Given the description of an element on the screen output the (x, y) to click on. 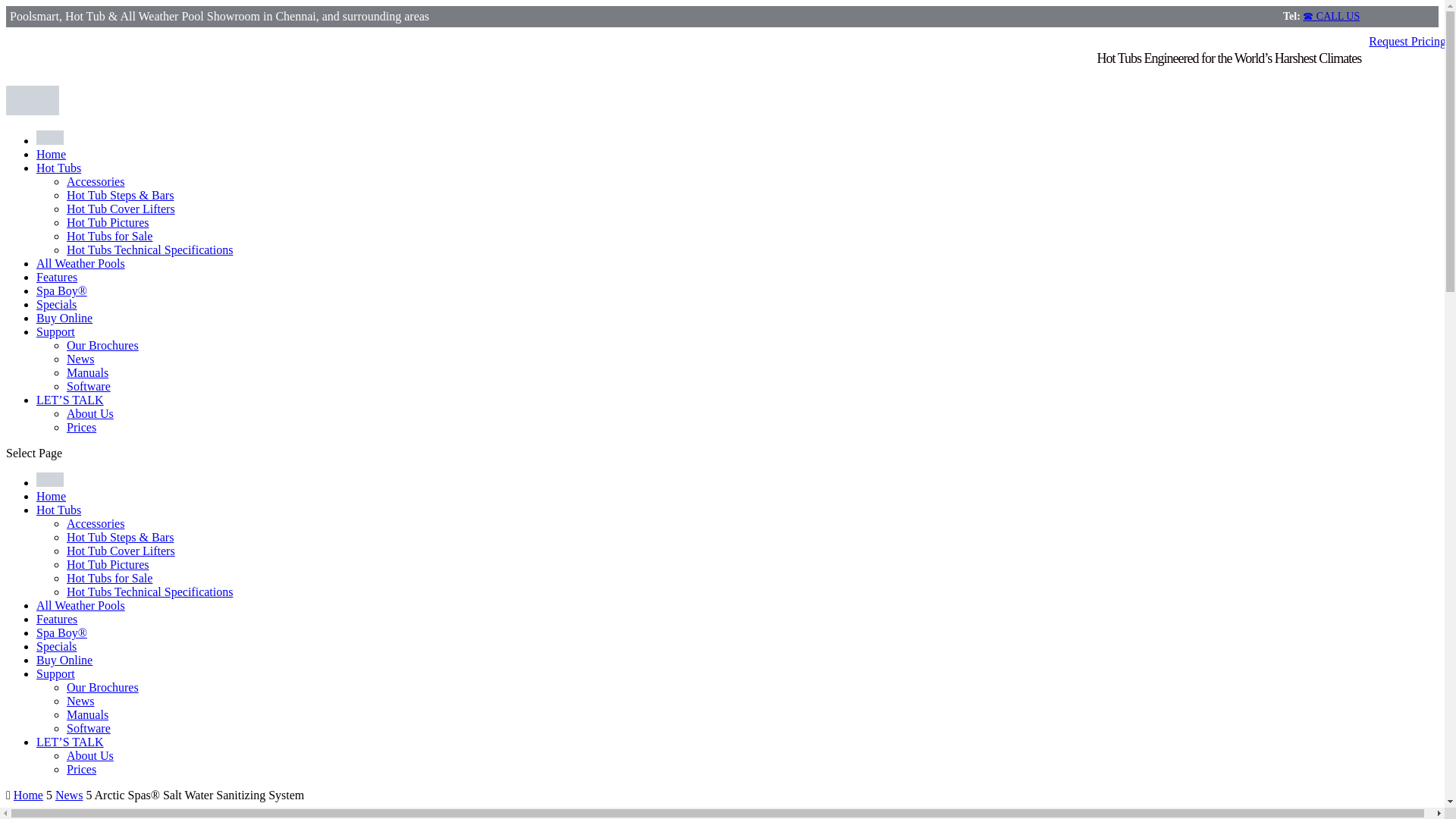
Accessories (94, 181)
Hot Tub Cover Lifters (120, 208)
Hot Tubs for Sale (109, 236)
Hot Tubs (58, 509)
Specials (56, 645)
Specials (56, 304)
Home (50, 495)
Home (50, 154)
News (80, 358)
Hot Tubs (58, 167)
Choose Your Location (50, 140)
Features (56, 277)
Return to the home page (50, 154)
Hot Tub Pictures (107, 563)
